Given the description of an element on the screen output the (x, y) to click on. 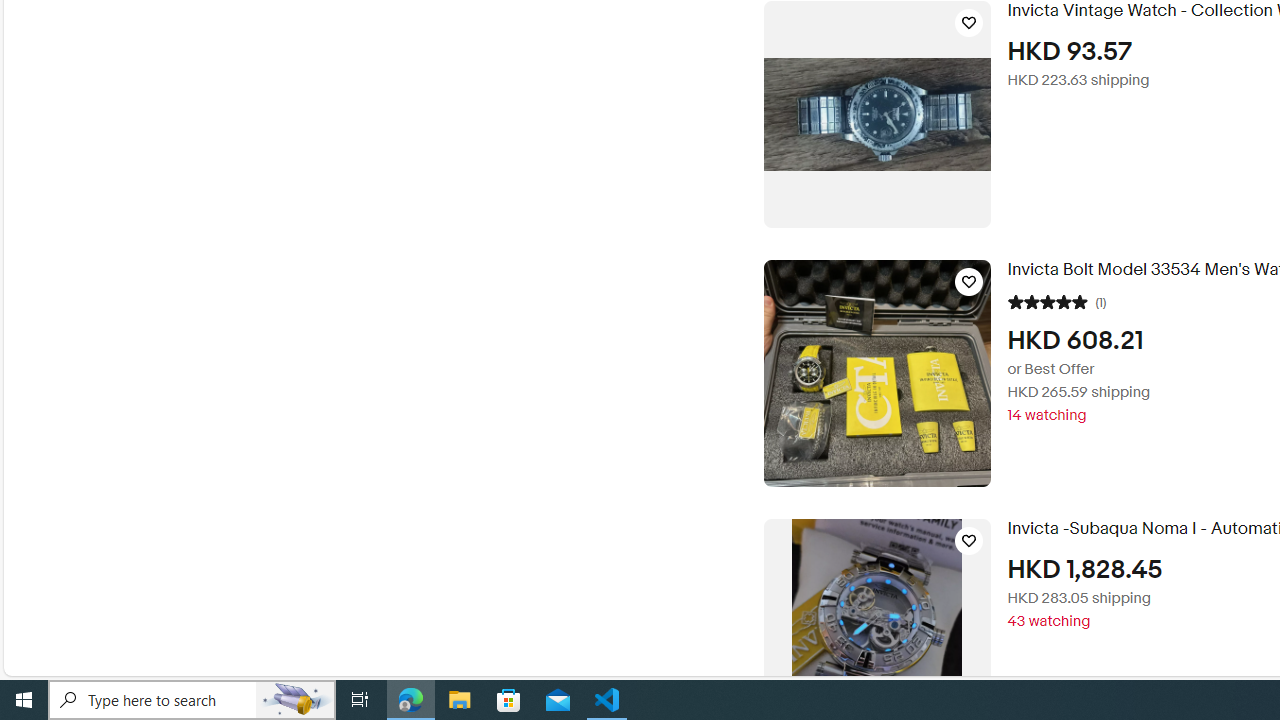
5 out of 5 stars (1047, 300)
